Given the description of an element on the screen output the (x, y) to click on. 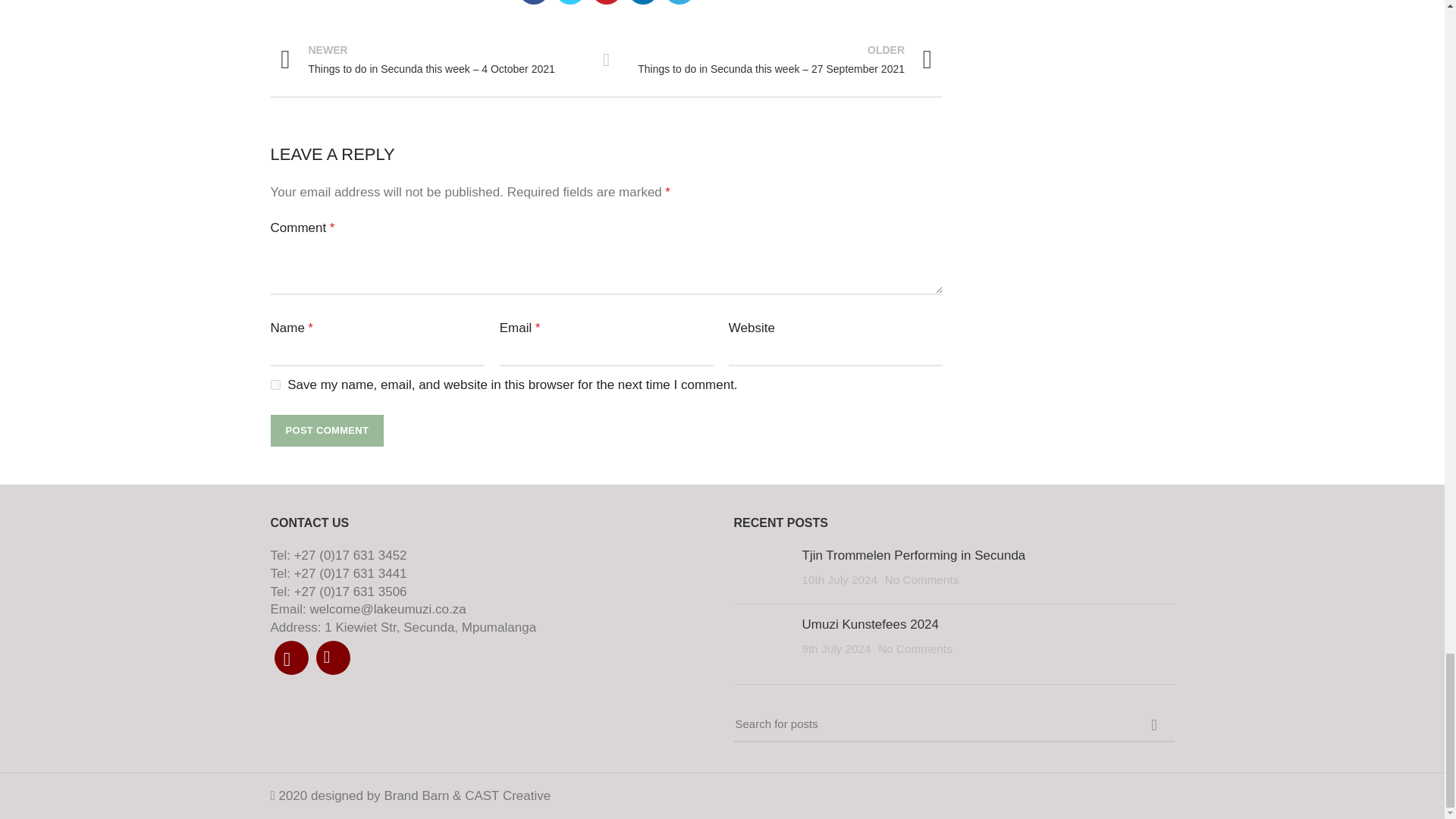
Permalink to Umuzi Kunstefees 2024 (870, 624)
Search for posts (953, 724)
Permalink to Tjin Trommelen Performing in Secunda (914, 554)
yes (274, 384)
Website Umuzi Kunstefees 6 (761, 637)
Post Comment (326, 430)
